Given the description of an element on the screen output the (x, y) to click on. 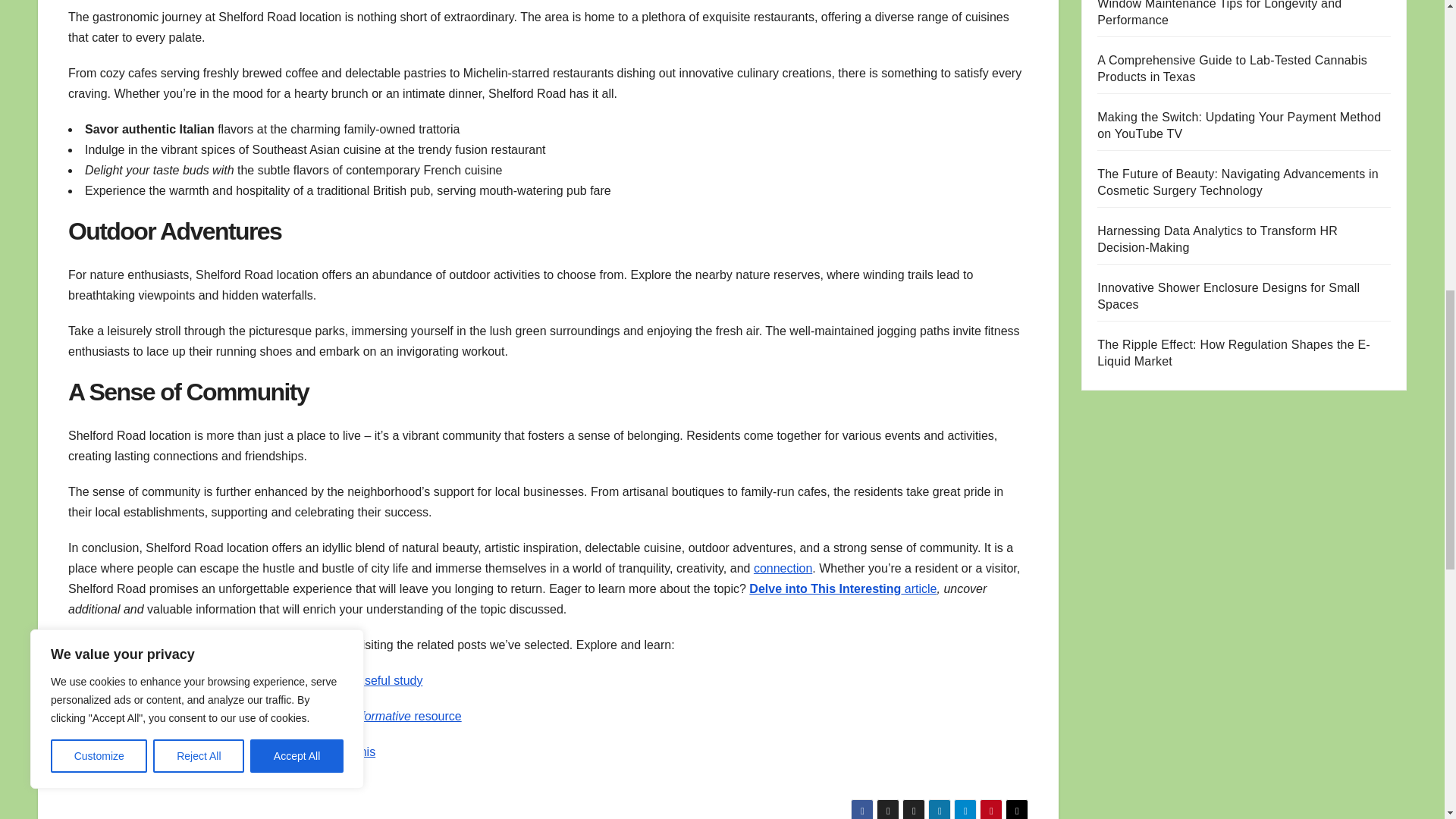
Visit this informative resource (381, 716)
Read this useful study (362, 680)
Compare this (338, 751)
Delve into This Interesting article (842, 588)
connection (783, 567)
